Given the description of an element on the screen output the (x, y) to click on. 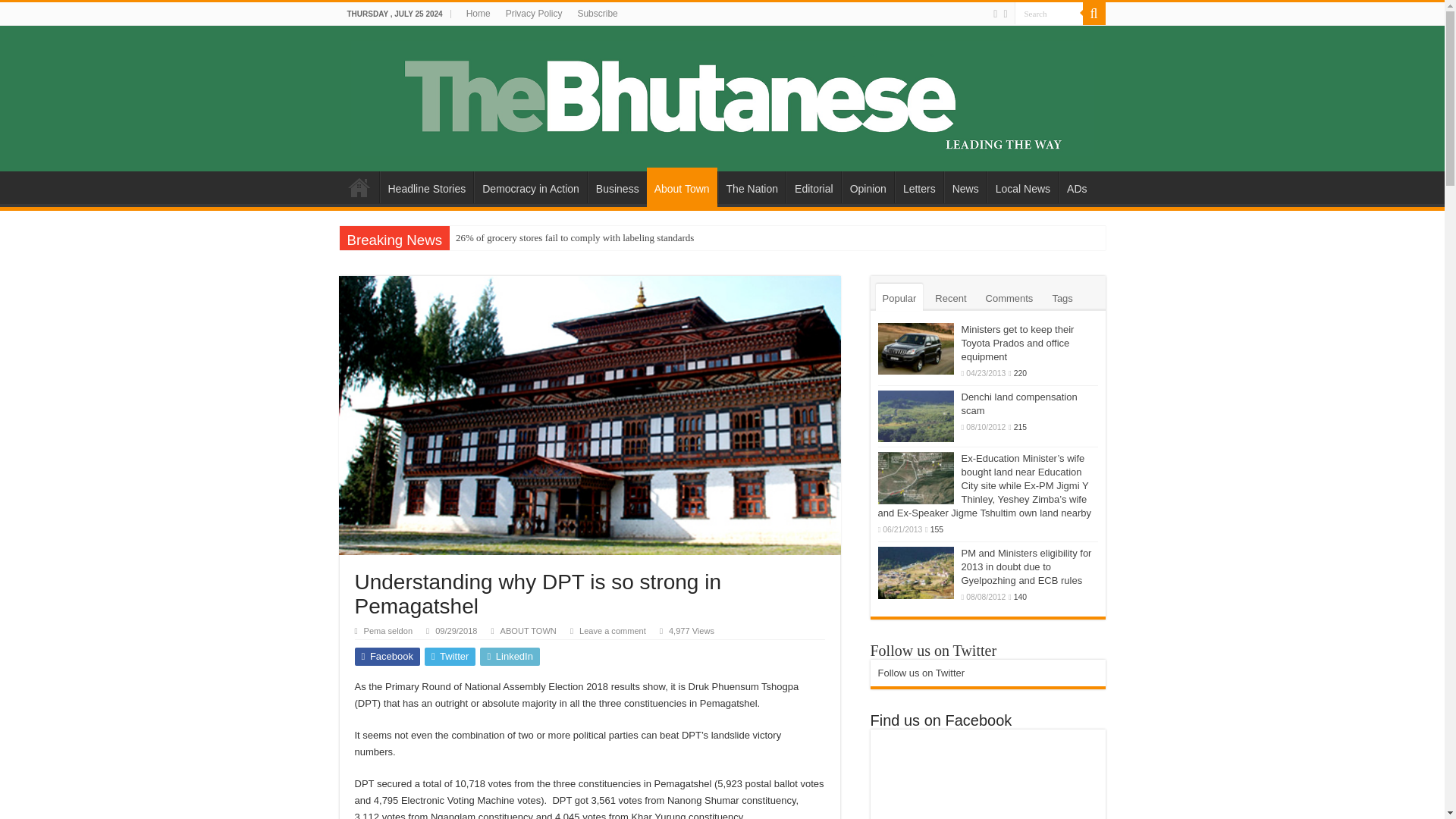
Search (1094, 13)
ADs (1076, 187)
Opinion (867, 187)
Subscribe (596, 13)
Privacy Policy (533, 13)
Business (617, 187)
HOME (358, 187)
Editorial (813, 187)
The Nation (751, 187)
Home (477, 13)
Search (1048, 13)
Headline Stories (425, 187)
Democracy in Action (530, 187)
Letters (919, 187)
Local News (1022, 187)
